Given the description of an element on the screen output the (x, y) to click on. 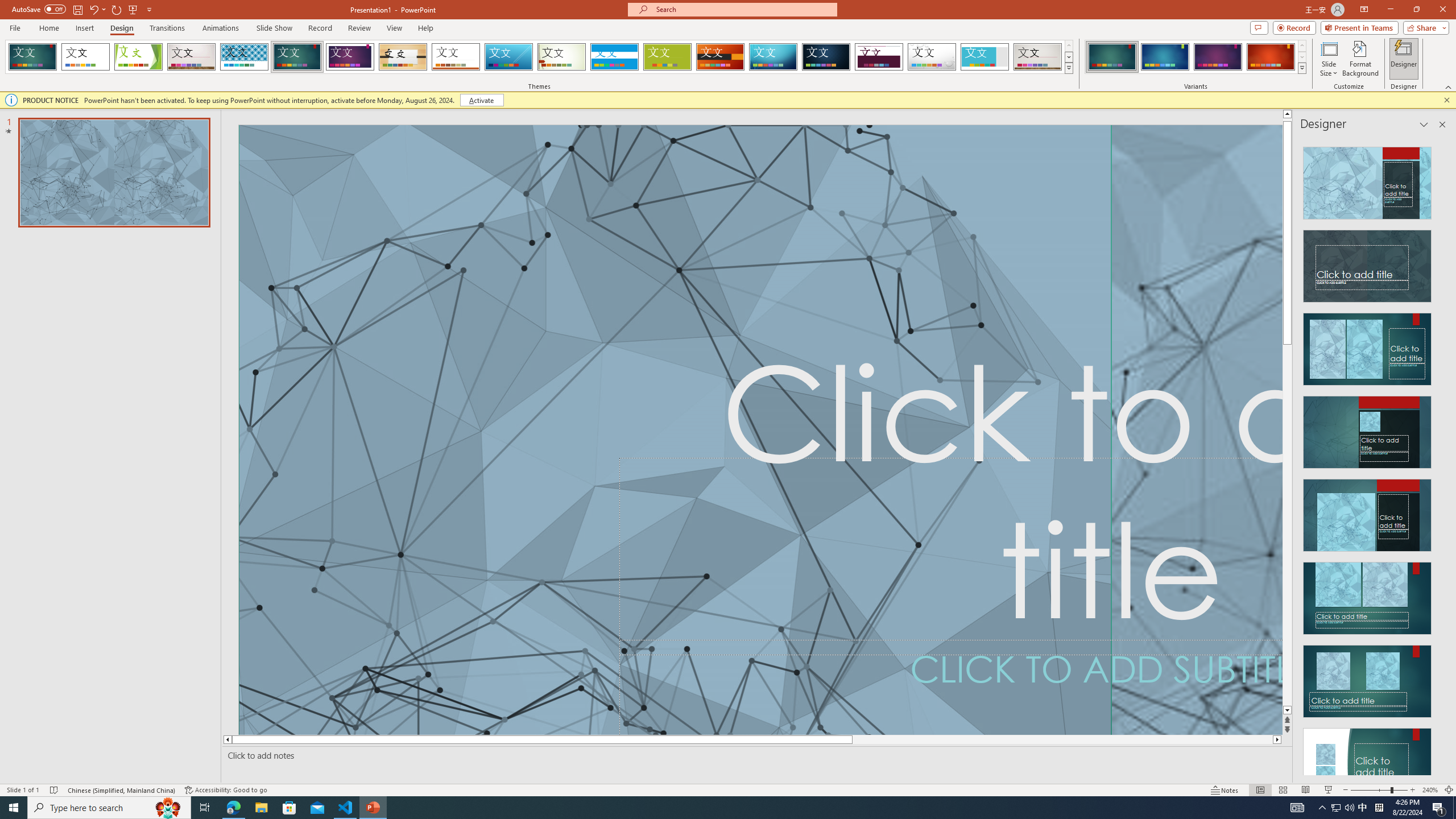
Frame (984, 56)
An abstract genetic concept (1197, 429)
Comments (1259, 27)
